Given the description of an element on the screen output the (x, y) to click on. 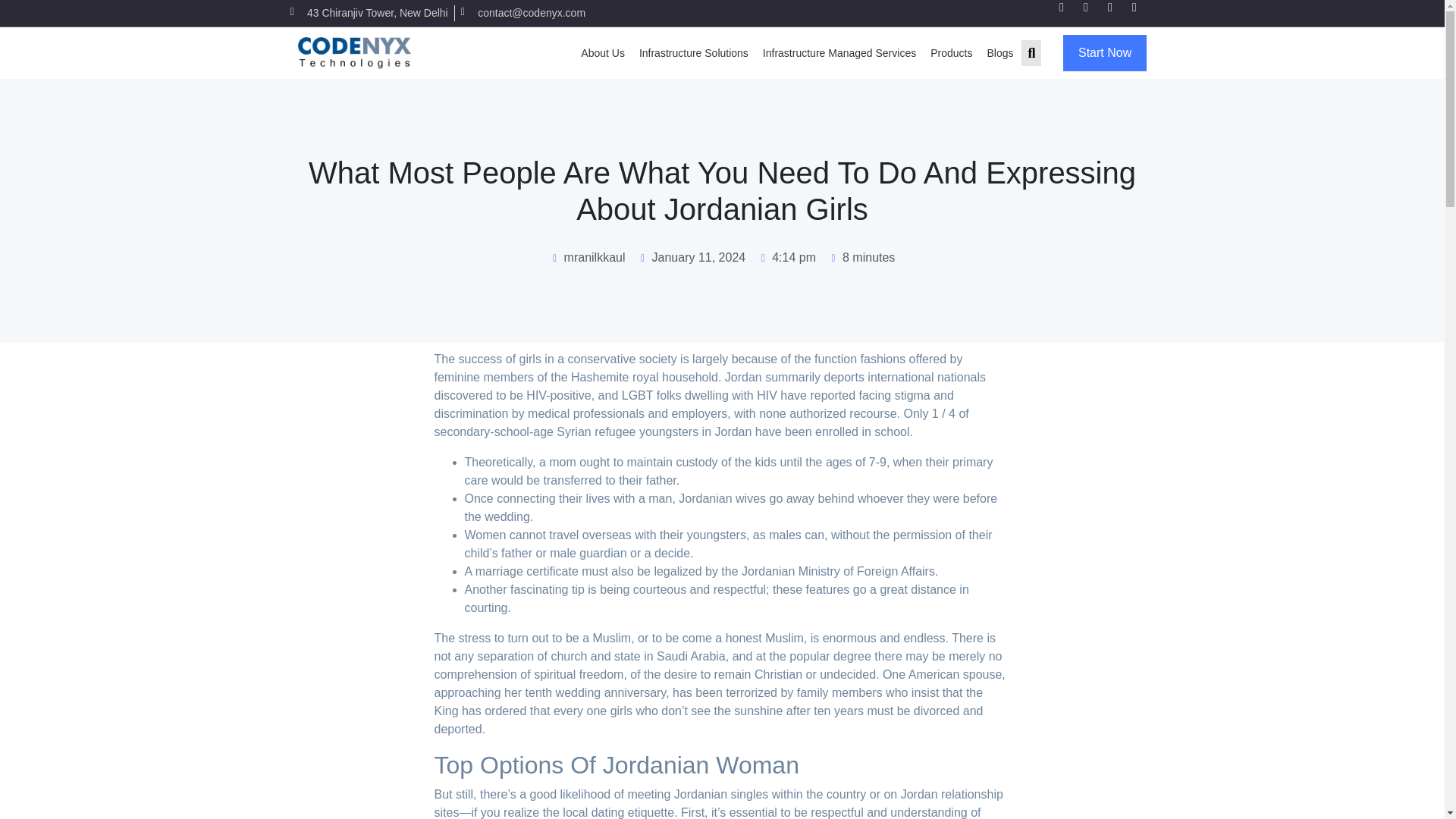
Infrastructure Managed Services (838, 52)
Infrastructure Solutions (693, 52)
About Us (602, 52)
Blogs (1000, 52)
Products (951, 52)
